Given the description of an element on the screen output the (x, y) to click on. 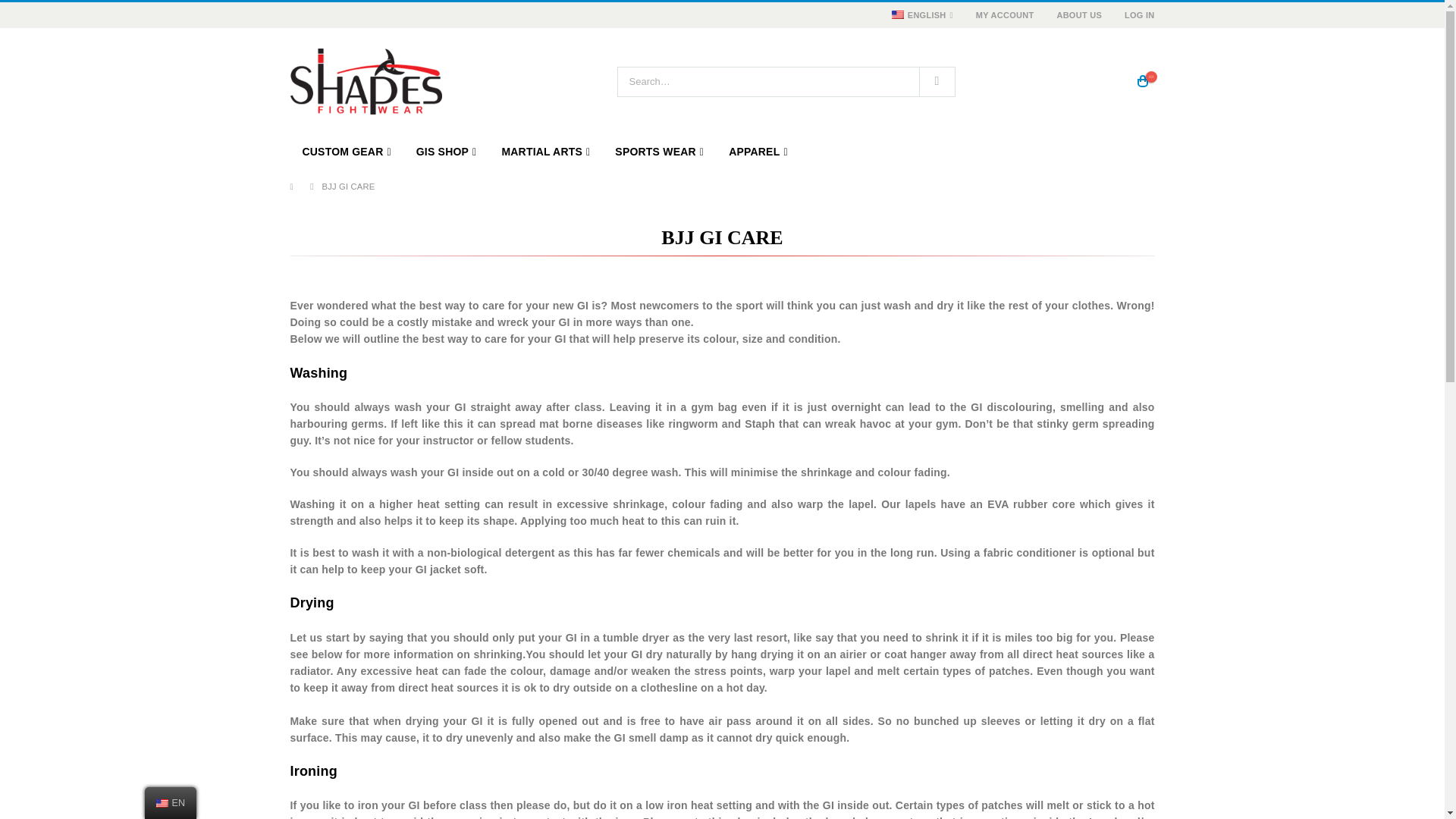
LOG IN (1133, 14)
English (897, 14)
CUSTOM GEAR (346, 151)
ABOUT US (1079, 14)
GIS SHOP (446, 151)
Search (935, 81)
ENGLISH (919, 14)
MY ACCOUNT (1004, 14)
MARTIAL ARTS (545, 151)
